Given the description of an element on the screen output the (x, y) to click on. 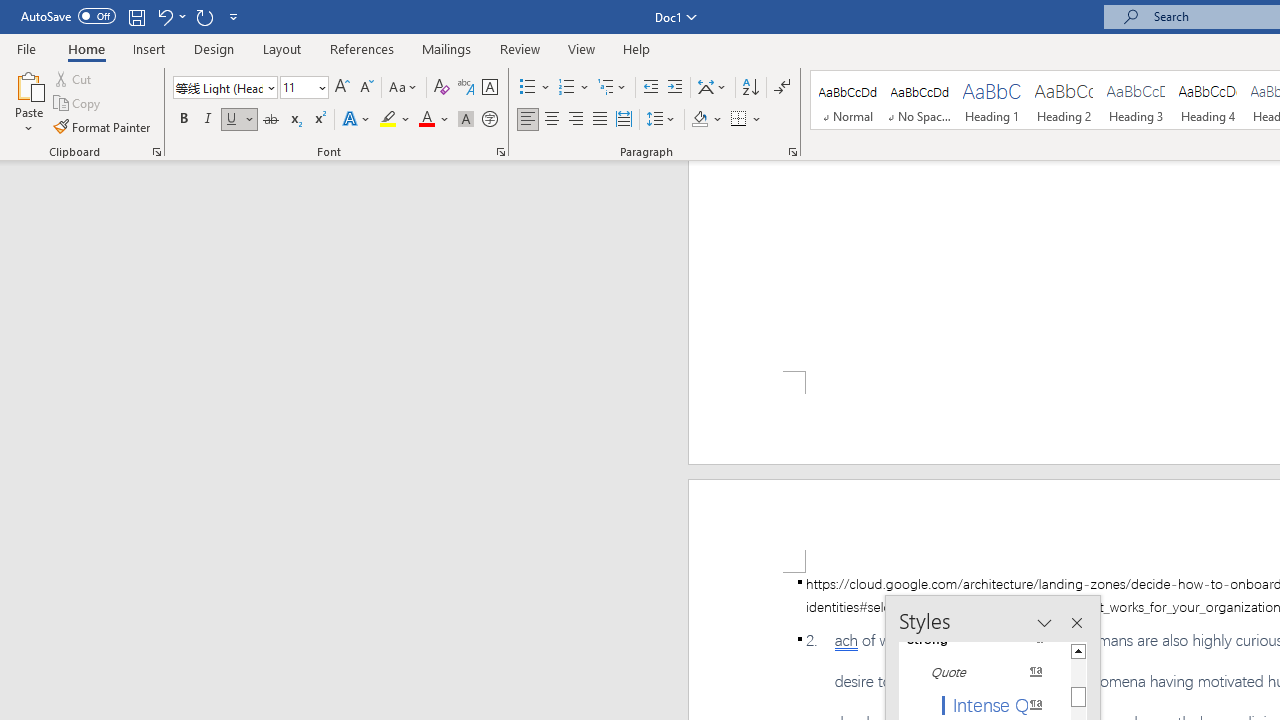
Cut (73, 78)
Paragraph... (792, 151)
Enclose Characters... (489, 119)
Bold (183, 119)
Repeat Style (204, 15)
Heading 3 (1135, 100)
Justify (599, 119)
Text Highlight Color Yellow (388, 119)
